Given the description of an element on the screen output the (x, y) to click on. 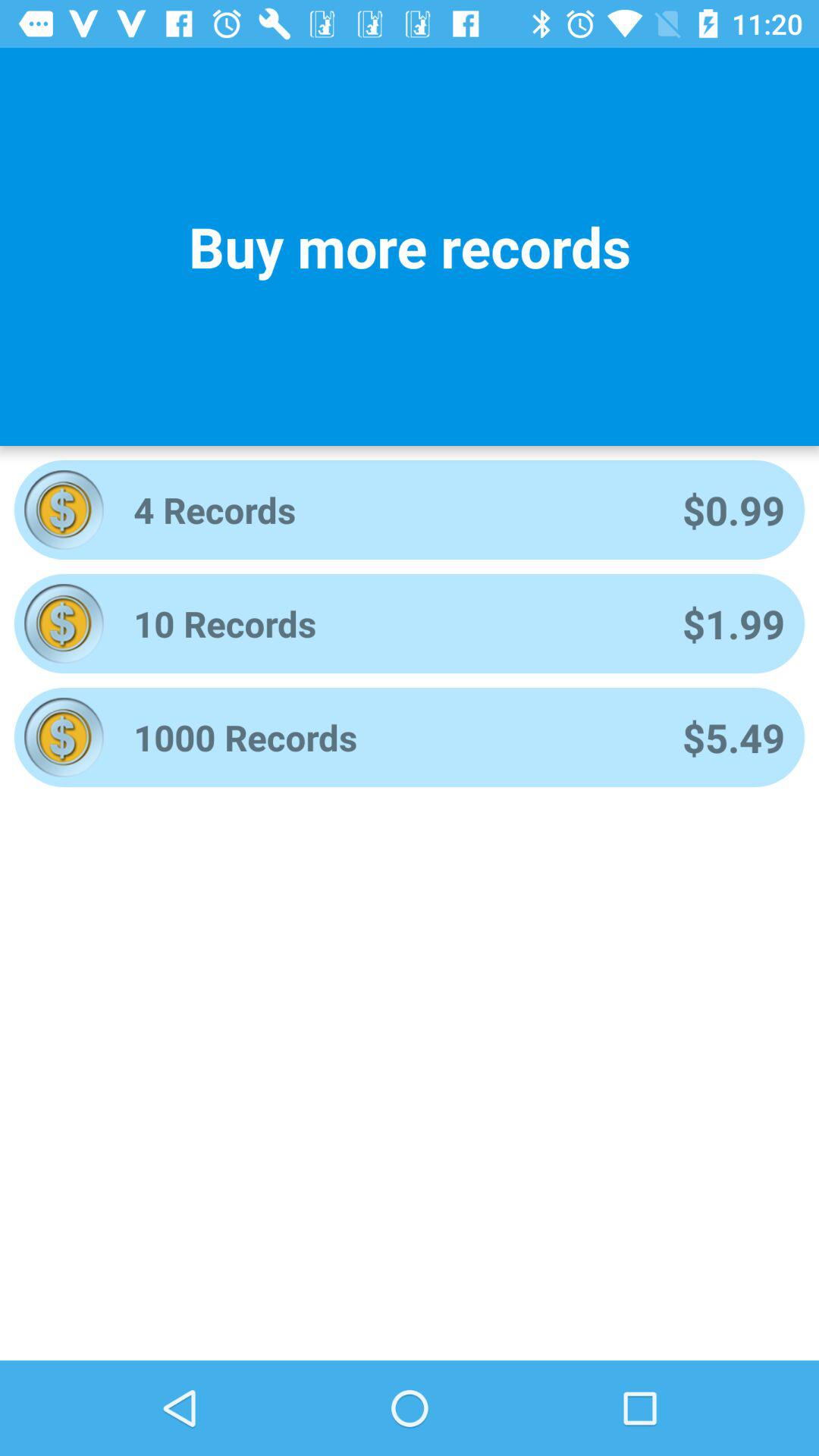
choose the icon to the left of $1.99 icon (387, 623)
